Given the description of an element on the screen output the (x, y) to click on. 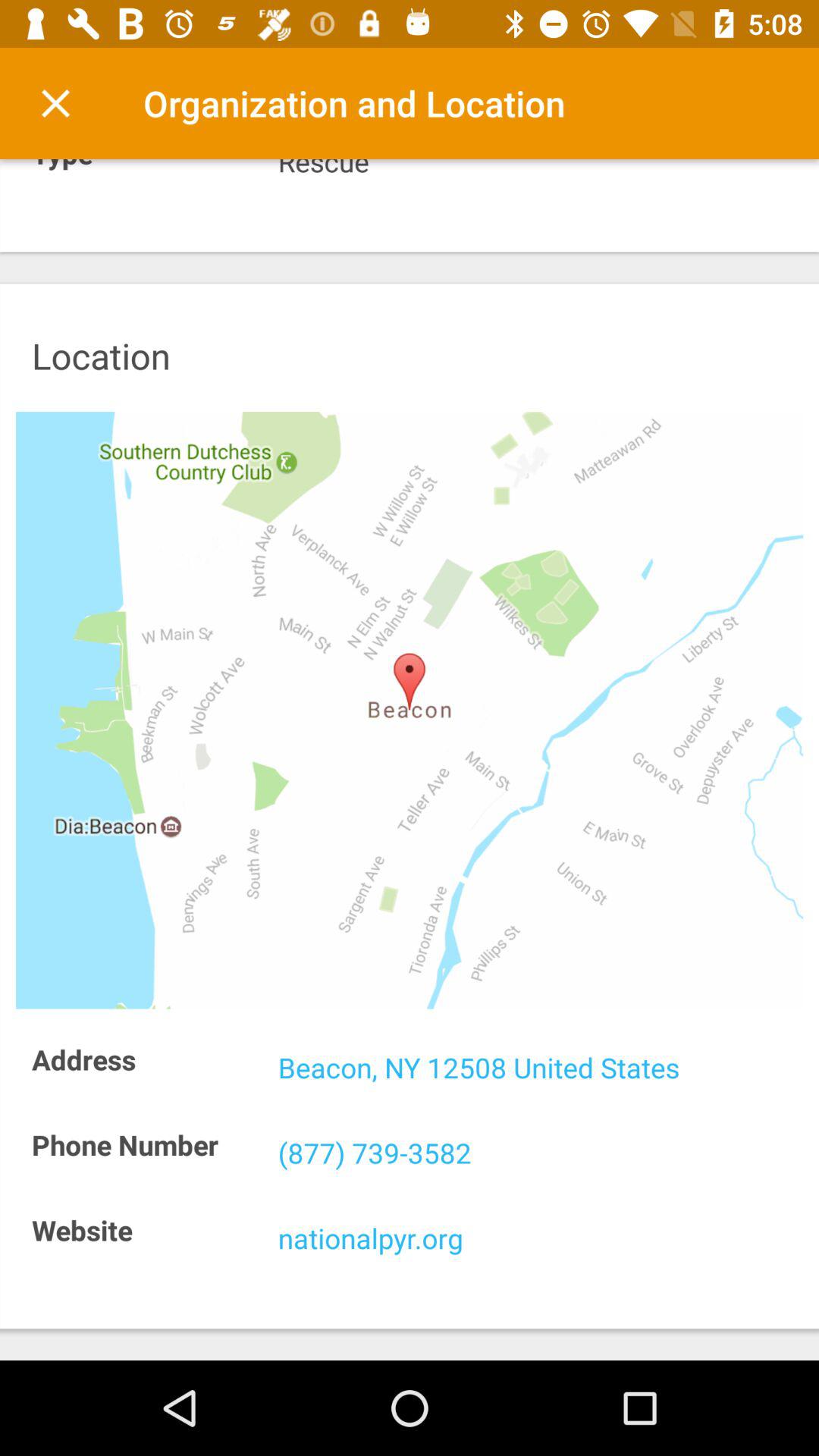
open item below the organization and location item (540, 169)
